Given the description of an element on the screen output the (x, y) to click on. 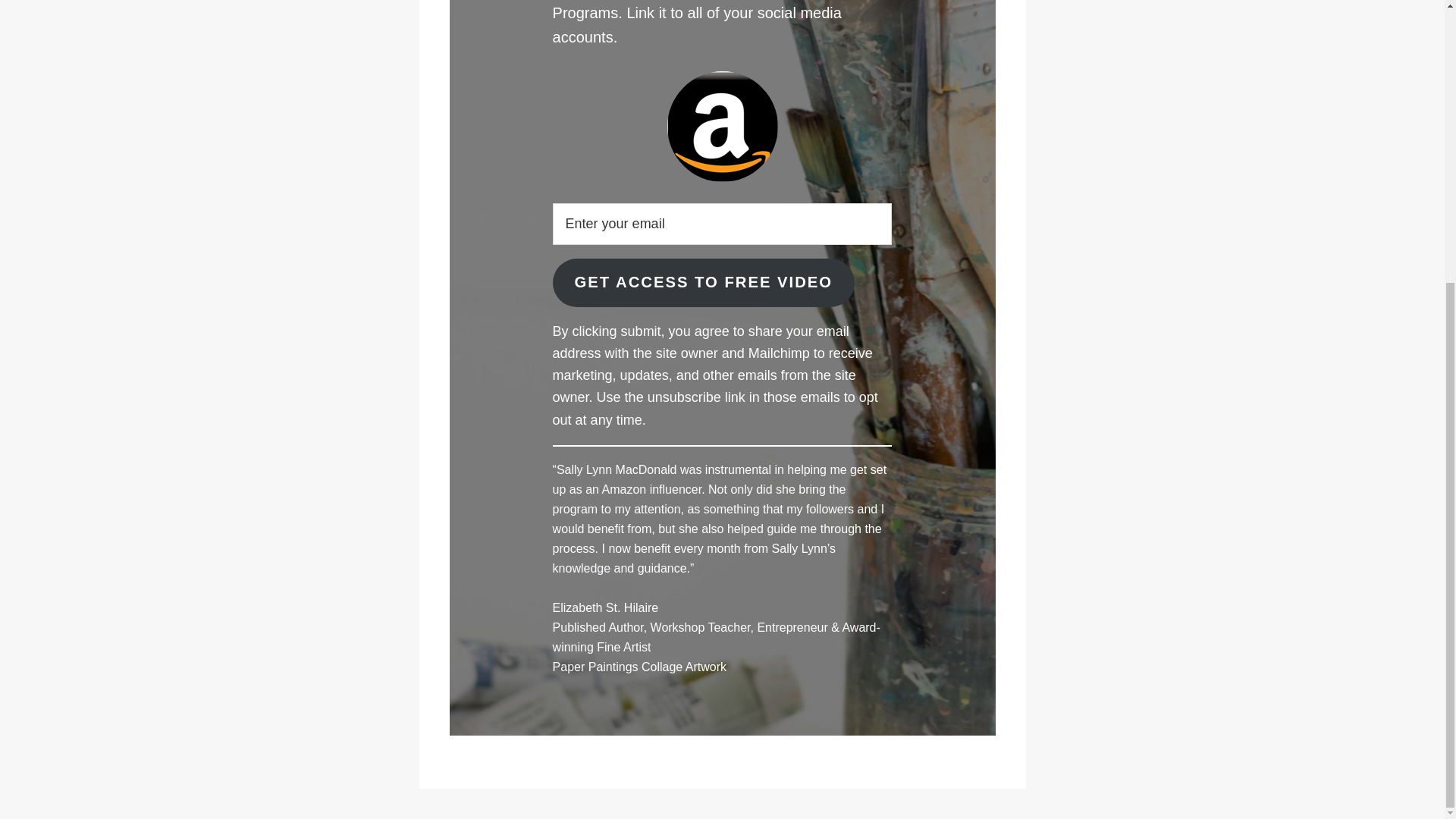
Enter your email (722, 223)
GET ACCESS TO FREE VIDEO (704, 282)
